Given the description of an element on the screen output the (x, y) to click on. 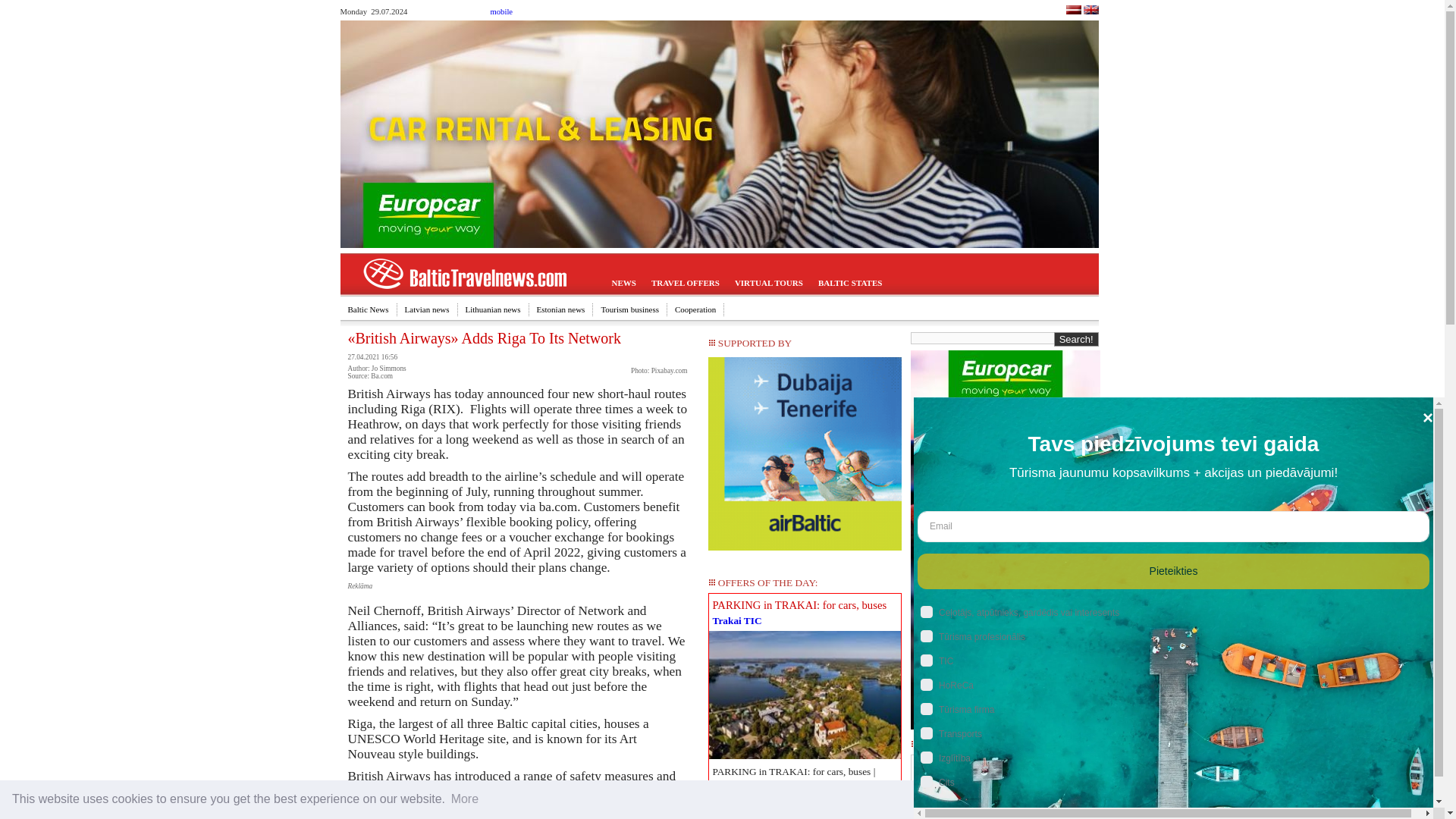
Tourism business (629, 309)
Baltic News (367, 309)
Lithuanian news (493, 309)
mobile (500, 11)
VIRTUAL TOURS (768, 284)
Cooperation (694, 309)
Baltictravelnews.com (1090, 11)
Estonian news (561, 309)
BALTIC STATES (849, 284)
TravelNews.lv (1072, 11)
NEWS (623, 284)
Advertisement (804, 810)
More (464, 798)
Latvian news (427, 309)
